Given the description of an element on the screen output the (x, y) to click on. 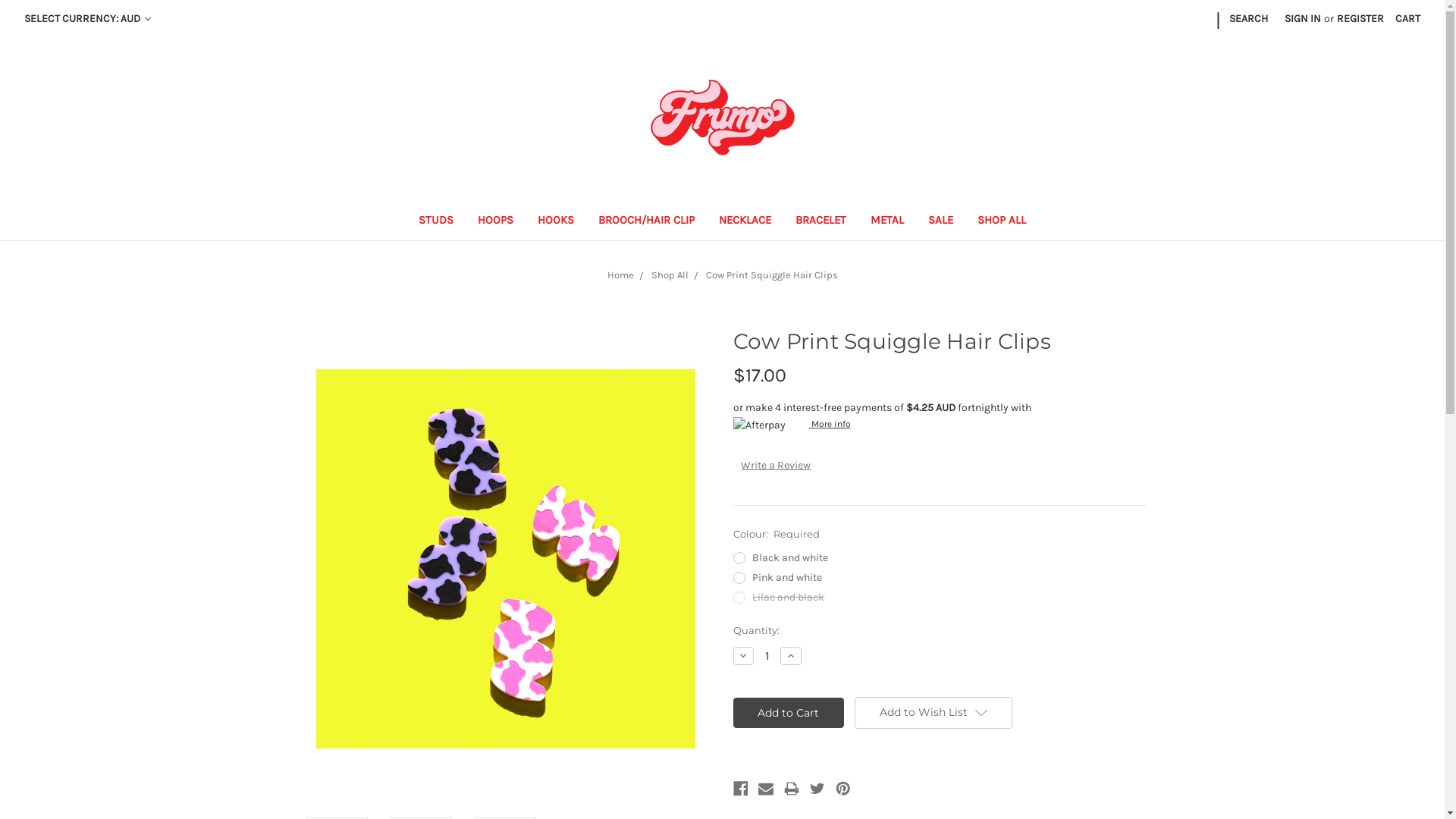
More info Element type: text (791, 423)
Shop All Element type: text (668, 274)
SALE Element type: text (940, 221)
SHOP ALL Element type: text (1001, 221)
REGISTER Element type: text (1360, 18)
SELECT CURRENCY: AUD Element type: text (87, 18)
Increase Quantity: Element type: text (790, 655)
SEARCH Element type: text (1248, 18)
Frump Element type: hover (722, 117)
BROOCH/HAIR CLIP Element type: text (646, 221)
SIGN IN Element type: text (1302, 18)
METAL Element type: text (887, 221)
CART Element type: text (1407, 18)
Cow Print Squiggle Hair Clips Element type: hover (504, 558)
Add to Wish List Element type: text (933, 712)
Write a Review Element type: text (775, 464)
BRACELET Element type: text (820, 221)
HOOPS Element type: text (495, 221)
NECKLACE Element type: text (744, 221)
STUDS Element type: text (435, 221)
Add to Cart Element type: text (788, 712)
HOOKS Element type: text (555, 221)
Home Element type: text (619, 274)
Decrease Quantity: Element type: text (742, 655)
